Given the description of an element on the screen output the (x, y) to click on. 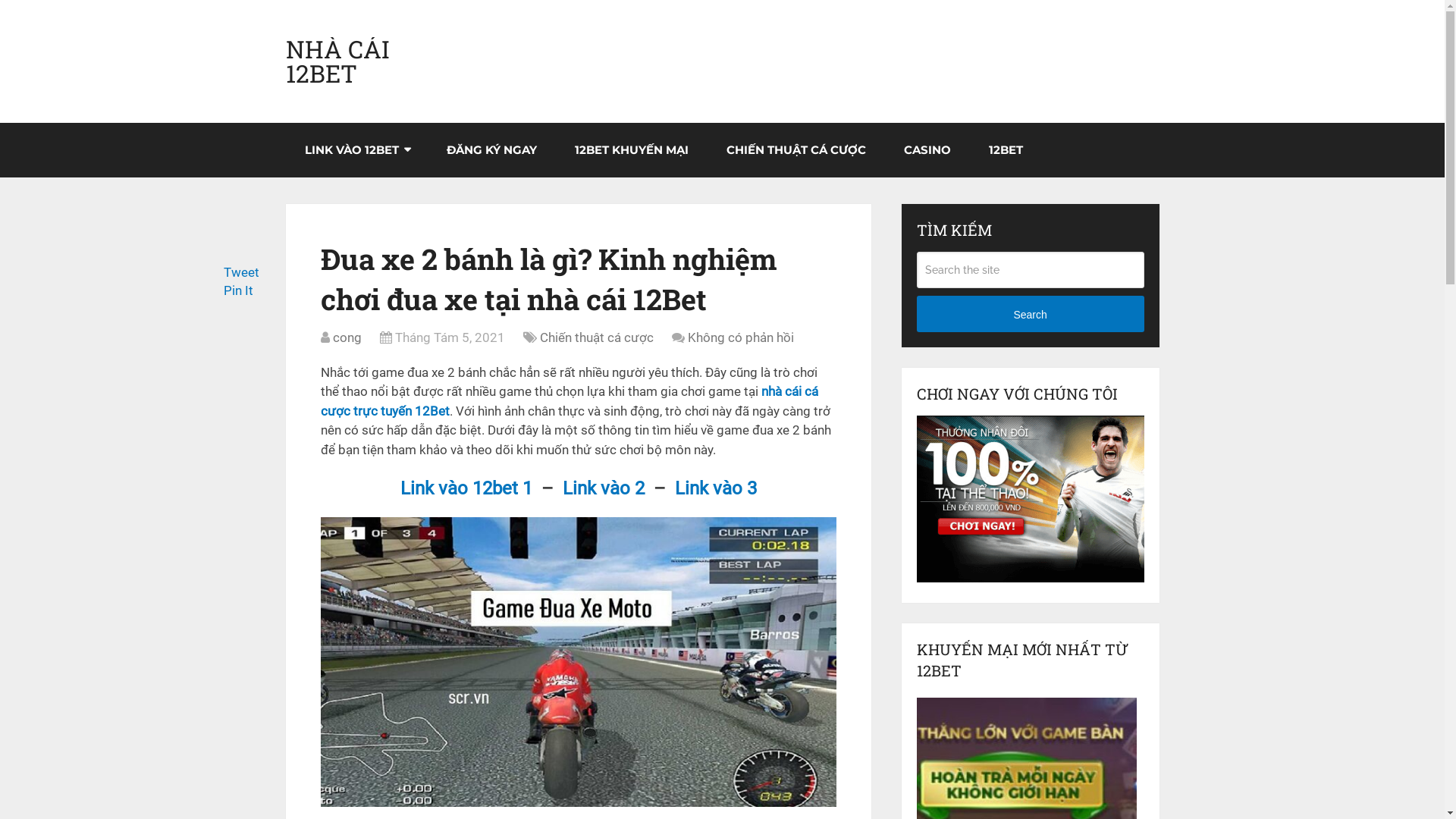
cong Element type: text (346, 337)
CASINO Element type: text (926, 149)
Search Element type: text (1030, 313)
Tweet Element type: text (240, 271)
12BET Element type: text (1005, 149)
Pin It Element type: text (237, 290)
